Given the description of an element on the screen output the (x, y) to click on. 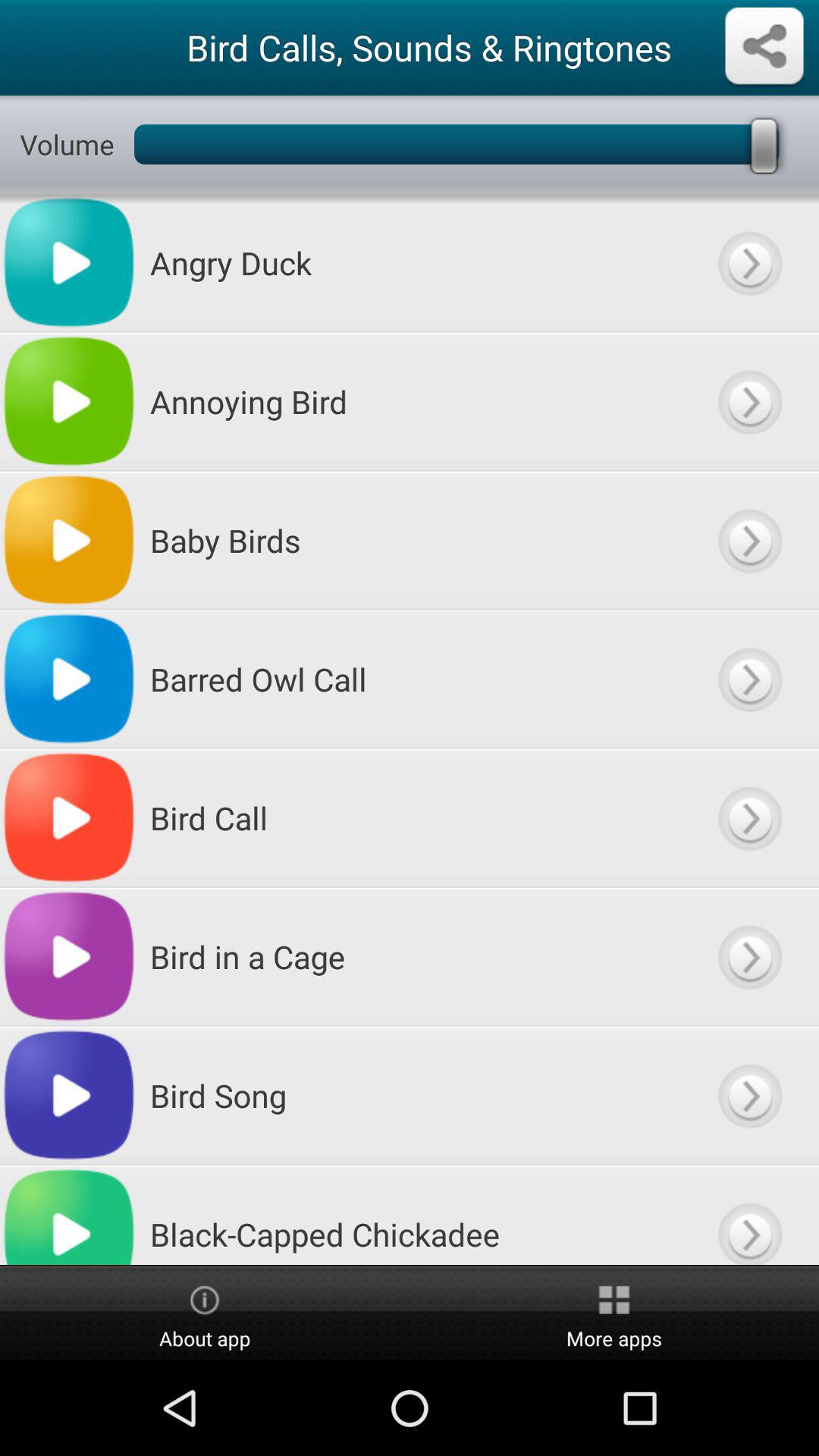
menu option (749, 540)
